Given the description of an element on the screen output the (x, y) to click on. 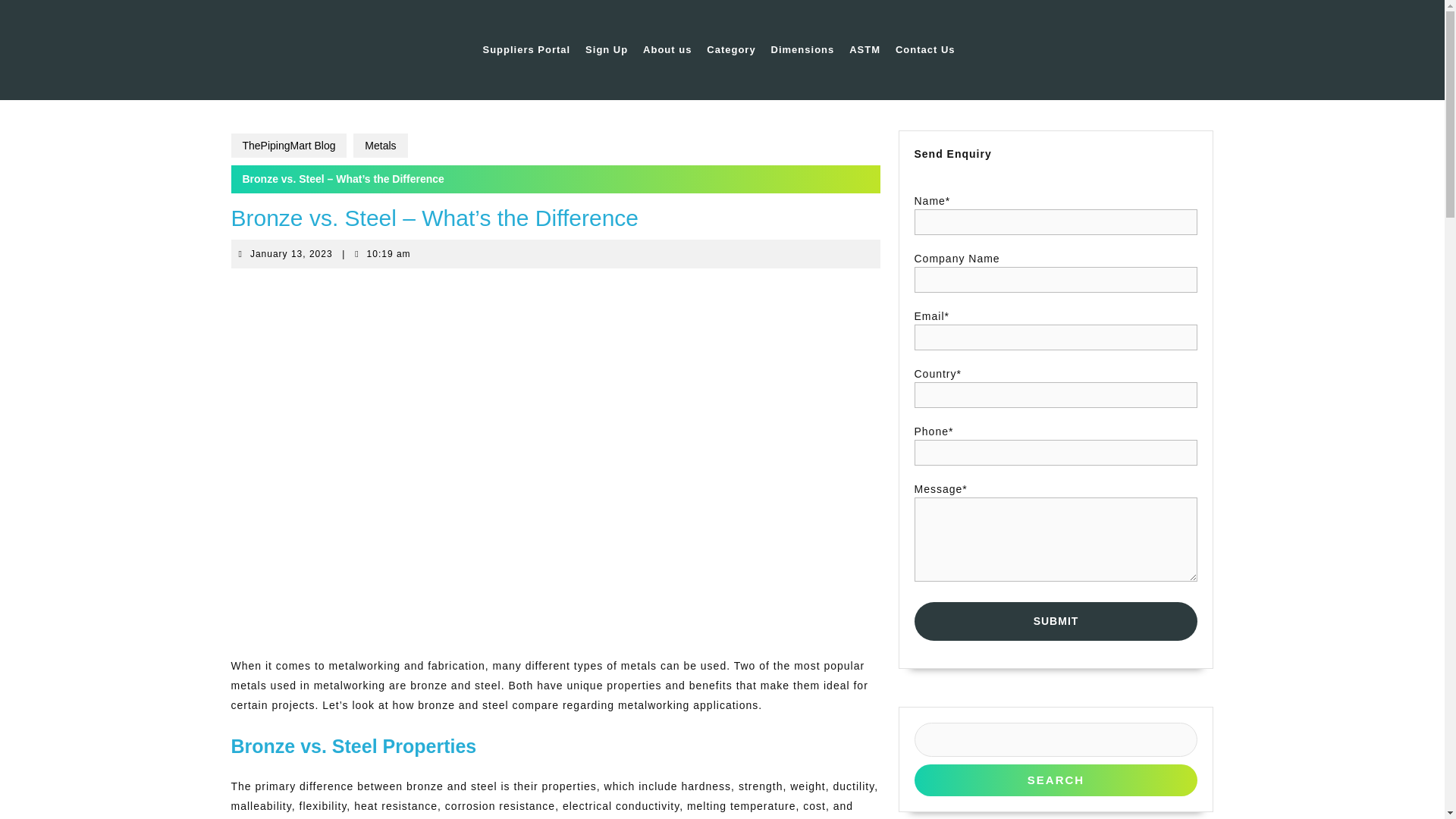
Metals (380, 145)
Suppliers Portal (526, 49)
ASTM (864, 49)
Submit (1056, 620)
Contact Us (924, 49)
Submit (1056, 620)
Sign Up (606, 49)
ThePipingMart Blog (288, 145)
SEARCH (291, 253)
About us (1056, 780)
Dimensions (667, 49)
Category (803, 49)
